Given the description of an element on the screen output the (x, y) to click on. 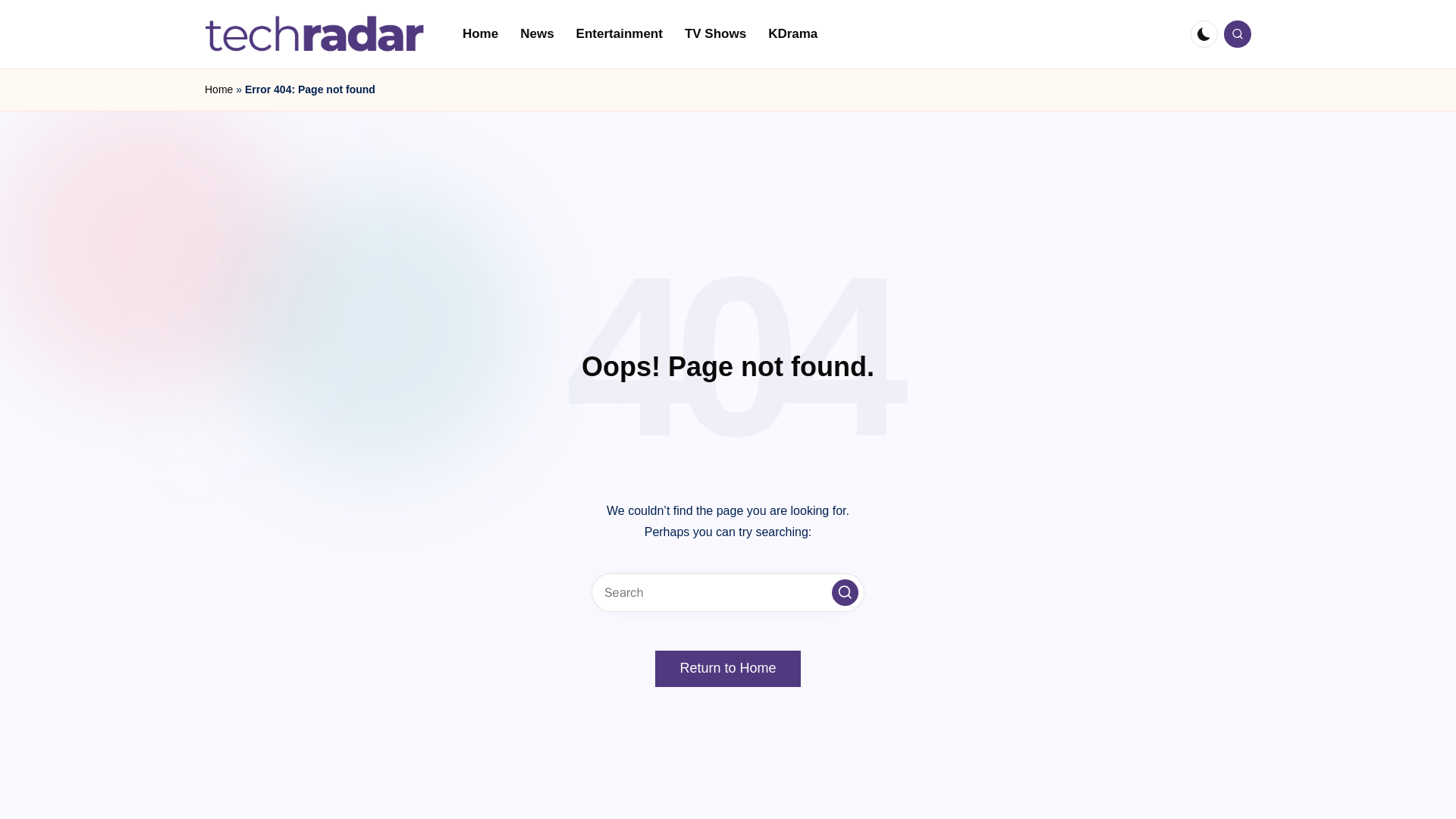
KDrama (792, 33)
Entertainment (619, 33)
Return to Home (726, 668)
Home (218, 89)
Home (479, 33)
News (536, 33)
TV Shows (715, 33)
